Given the description of an element on the screen output the (x, y) to click on. 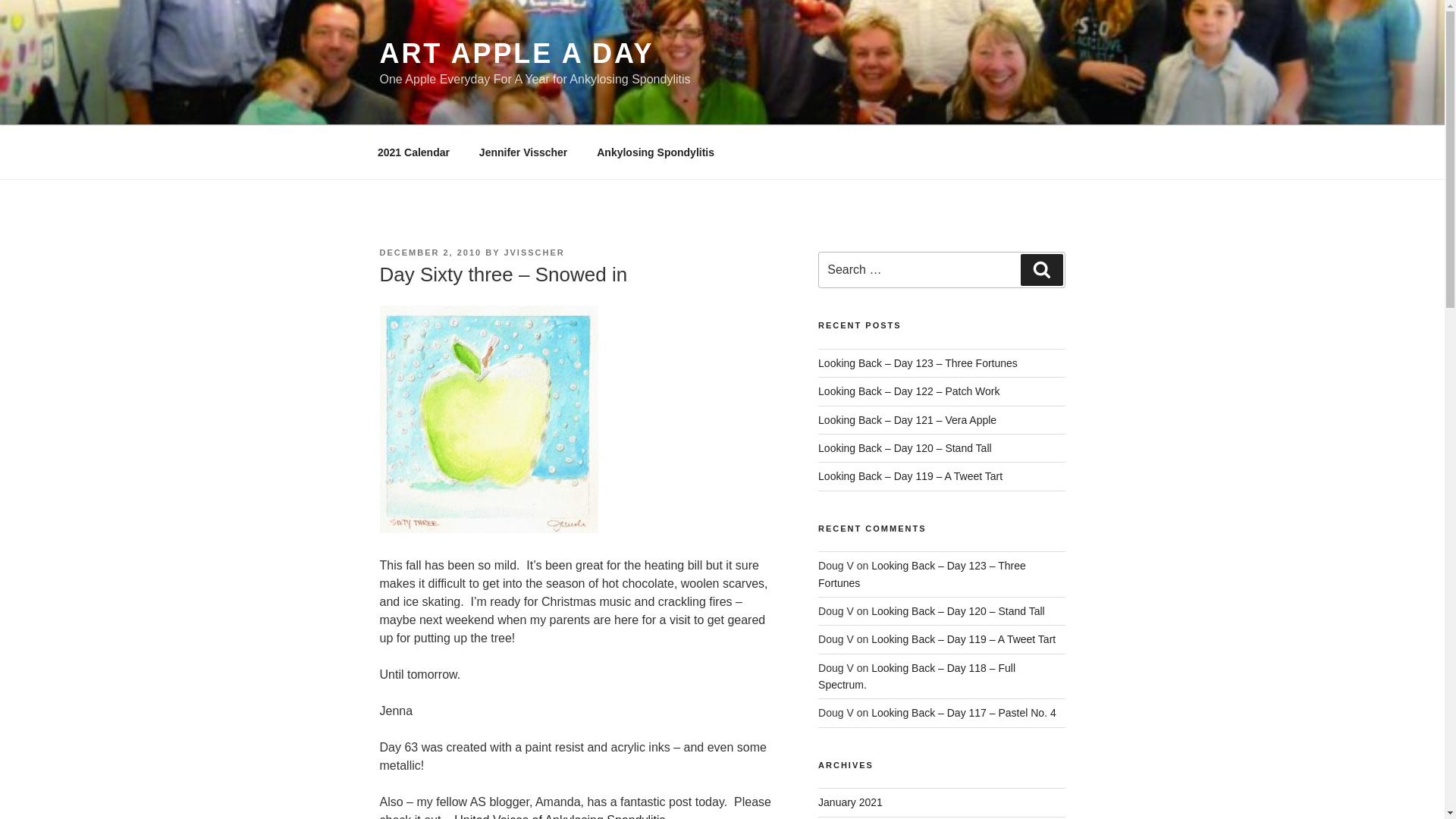
Search (1041, 269)
JVISSCHER (533, 252)
Jennifer Visscher (522, 151)
UnitedVAS (561, 816)
ART APPLE A DAY (515, 52)
2021 Calendar (413, 151)
DECEMBER 2, 2010 (429, 252)
United Voices of Ankylosing Spondylitis. (561, 816)
Ankylosing Spondylitis (655, 151)
